Given the description of an element on the screen output the (x, y) to click on. 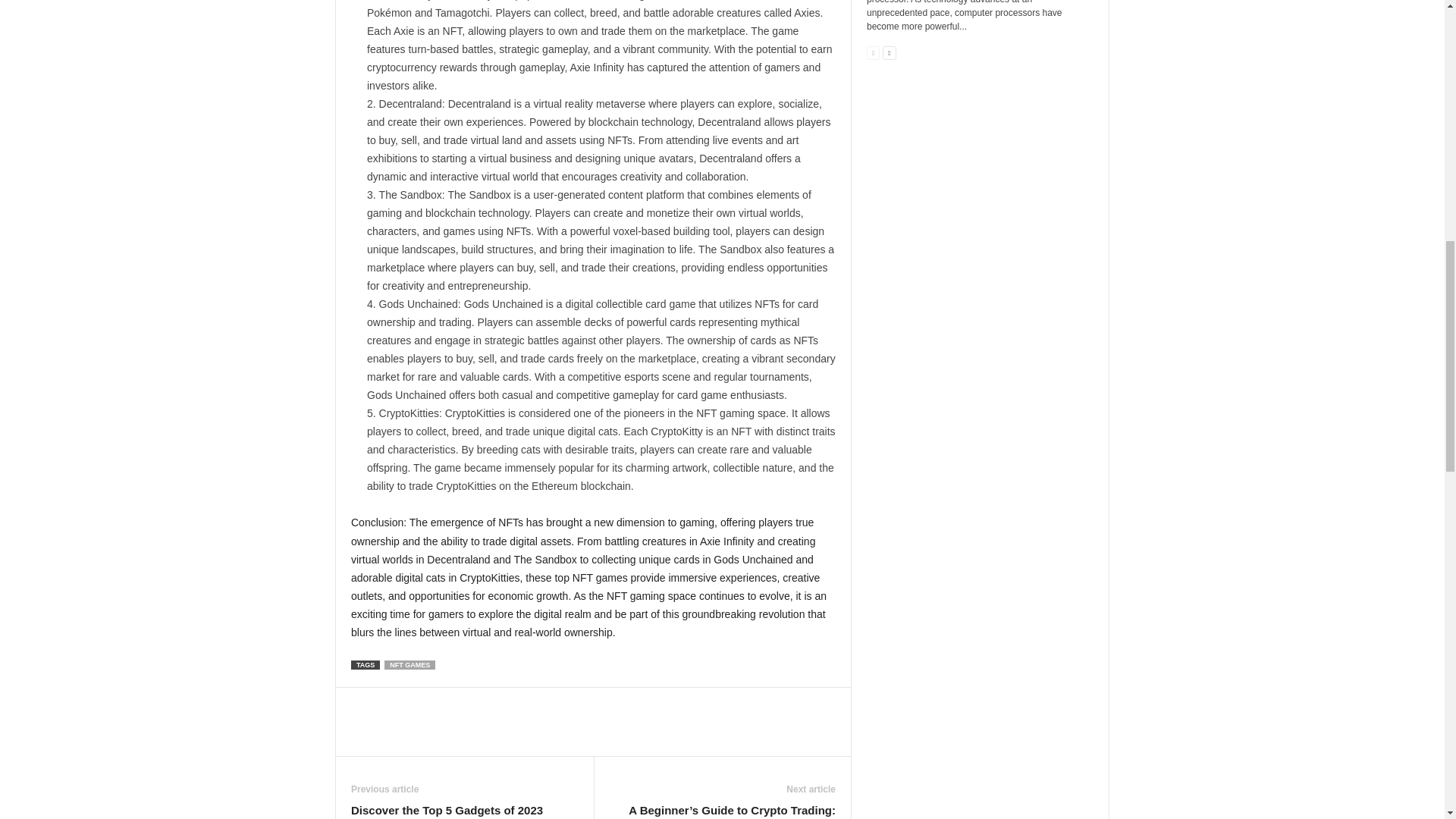
bottomFacebookLike (390, 703)
NFT GAMES (409, 664)
